Given the description of an element on the screen output the (x, y) to click on. 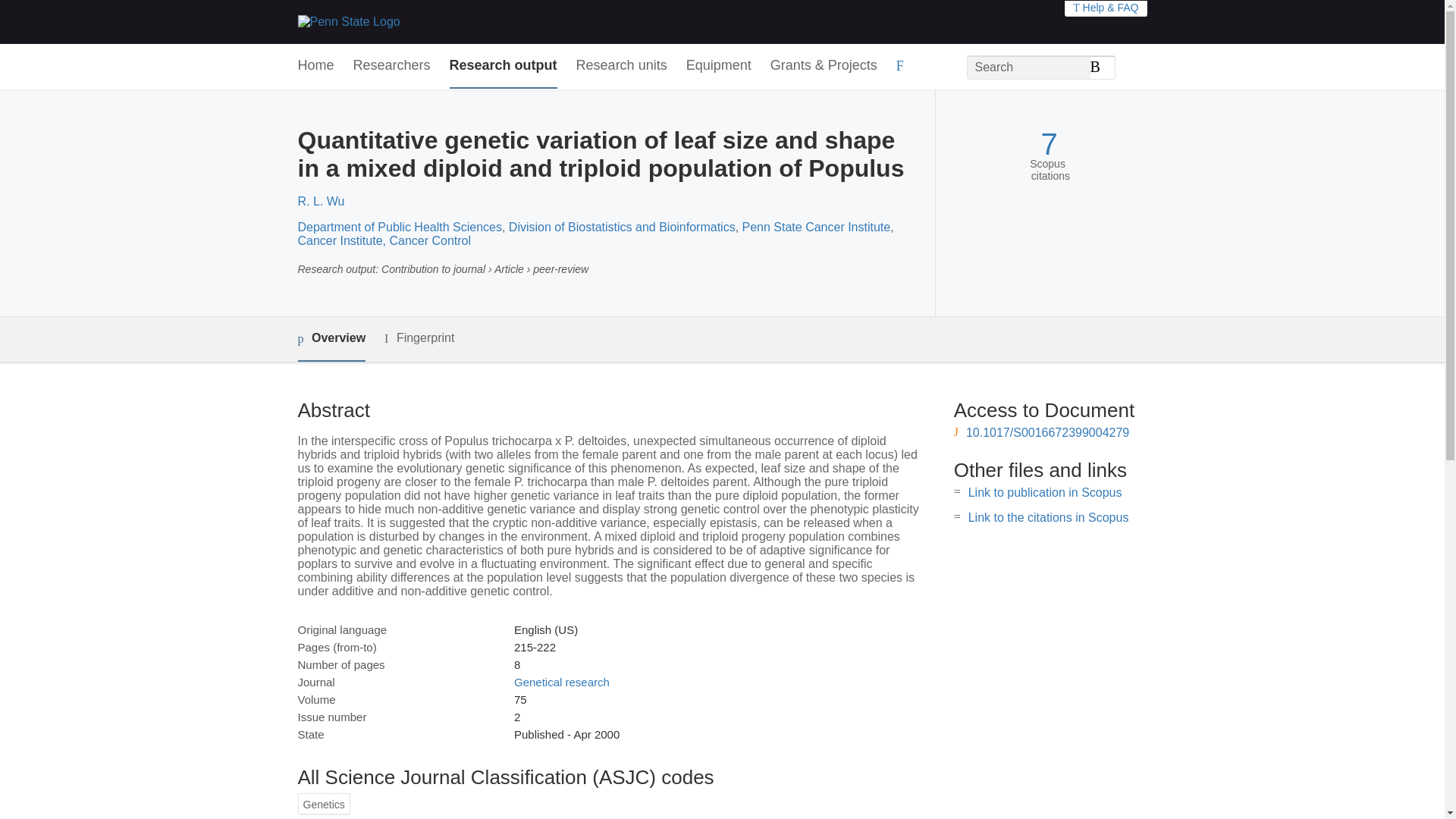
Penn State Cancer Institute (816, 226)
Researchers (391, 66)
Department of Public Health Sciences (398, 226)
Equipment (718, 66)
Link to the citations in Scopus (1048, 517)
Genetical research (561, 681)
Penn State Home (347, 21)
Research output (503, 66)
Research units (621, 66)
Overview (331, 338)
